Given the description of an element on the screen output the (x, y) to click on. 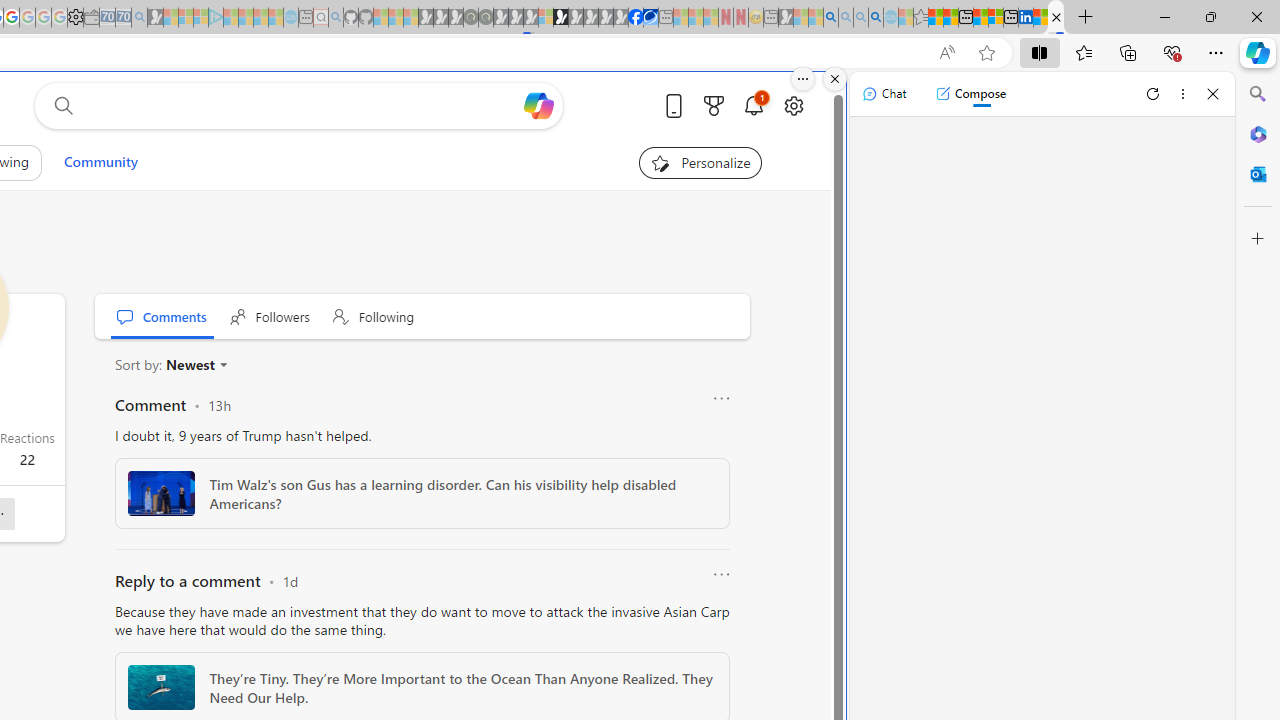
Future Focus Report 2024 - Sleeping (485, 17)
